Given the description of an element on the screen output the (x, y) to click on. 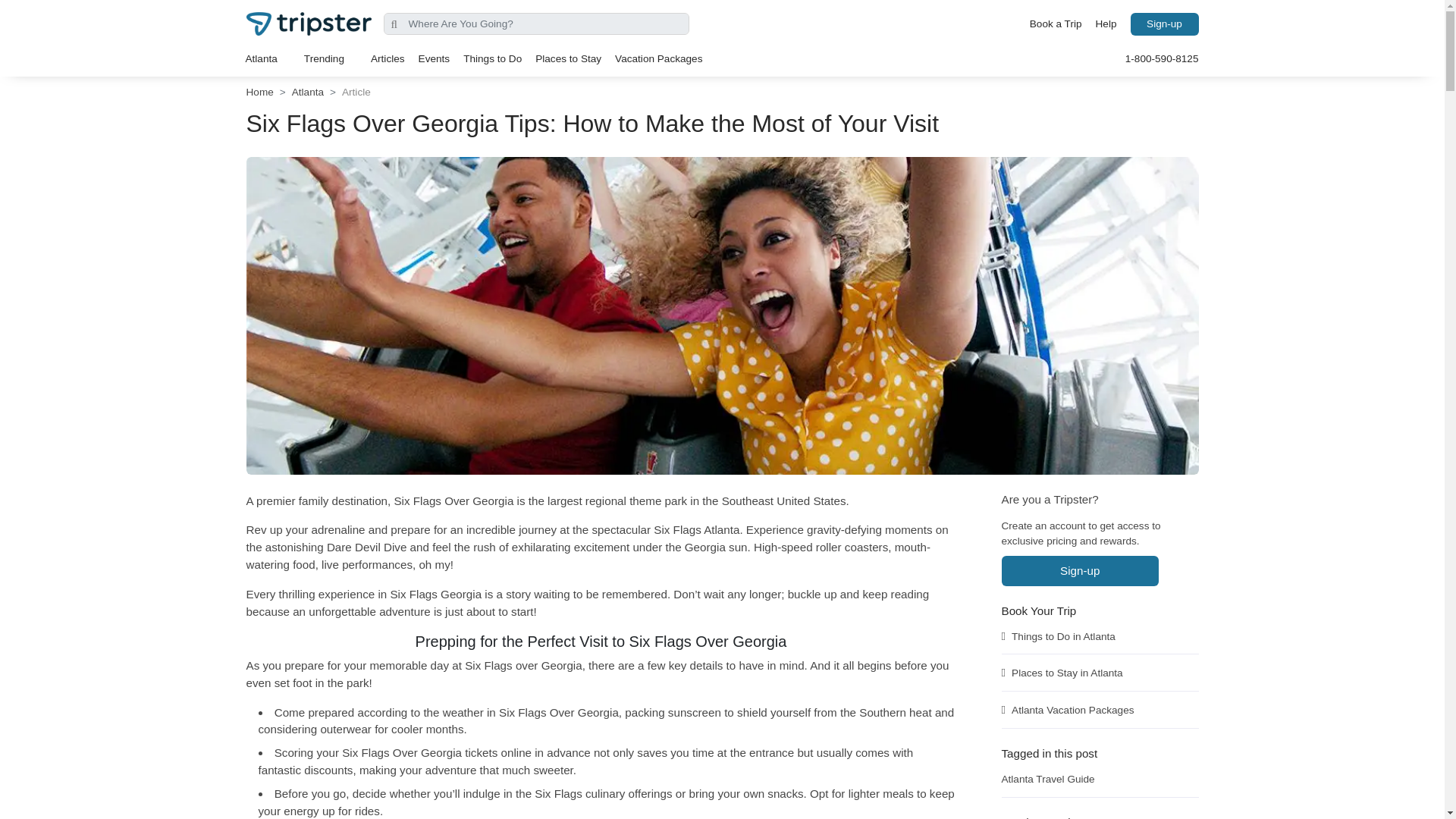
Sign-up (1163, 23)
Trending (330, 58)
Atlanta (267, 58)
Help (1106, 24)
Book a Trip (1056, 24)
